Given the description of an element on the screen output the (x, y) to click on. 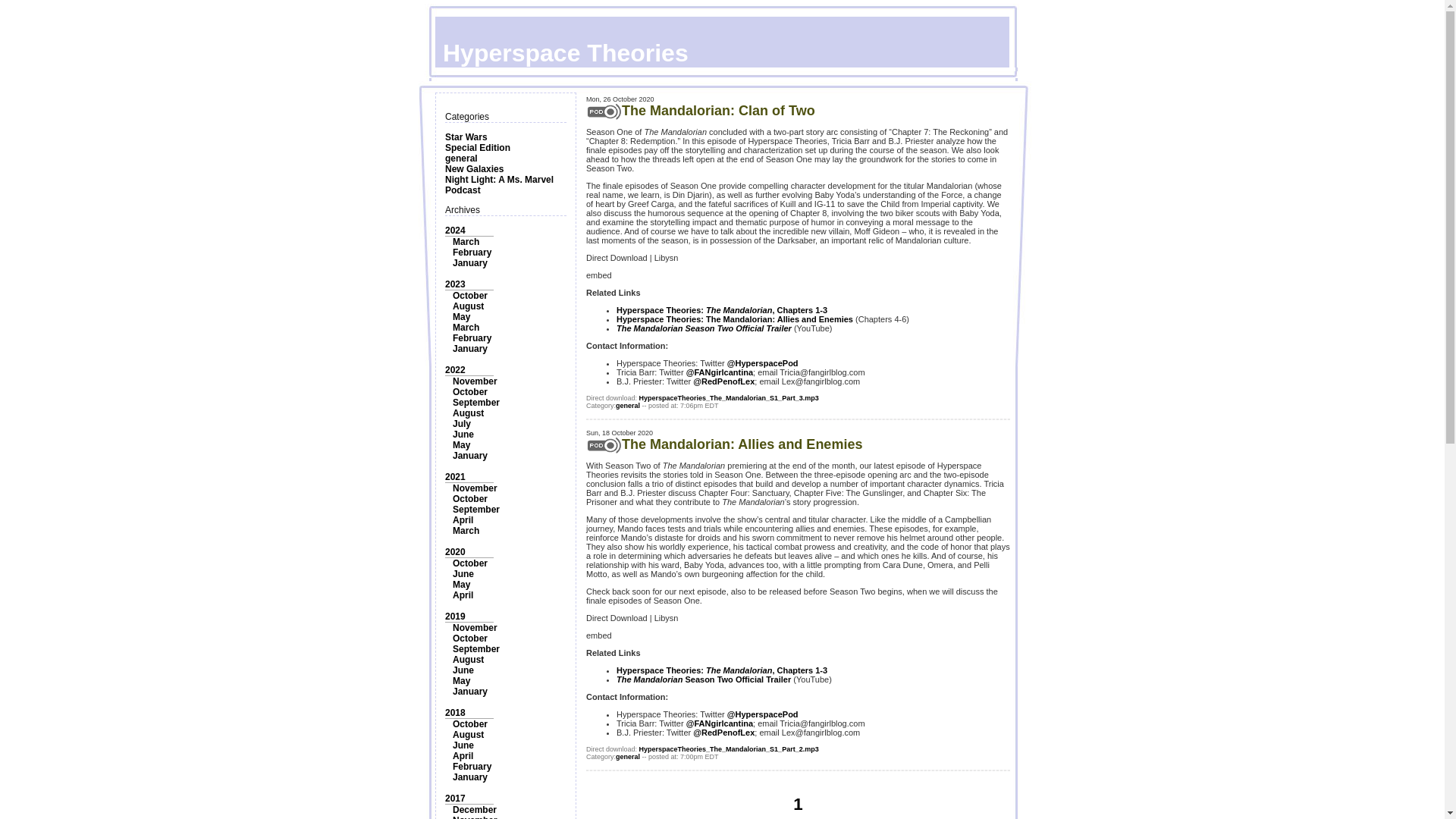
September (475, 648)
January (469, 455)
2022 (455, 369)
September (475, 402)
November (474, 488)
August (467, 412)
New Galaxies (474, 168)
Star Wars (466, 136)
April (462, 594)
January (469, 262)
April (462, 520)
Special Edition (478, 147)
July (461, 423)
general (461, 158)
January (469, 348)
